Given the description of an element on the screen output the (x, y) to click on. 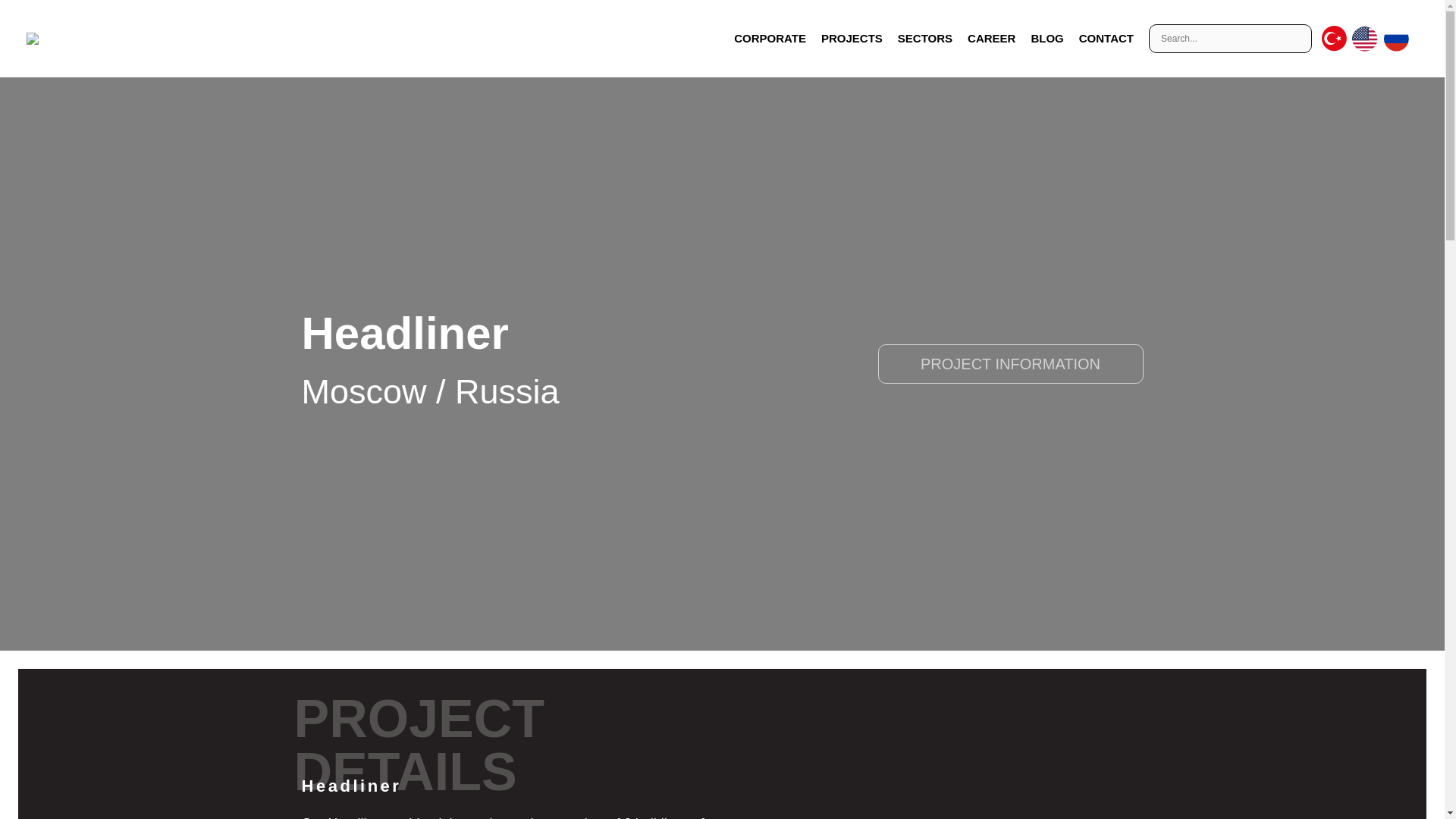
BLOG (1046, 38)
CORPORATE (769, 38)
CONTACT (1106, 38)
SECTORS (924, 38)
PROJECT INFORMATION (1009, 363)
CAREER (991, 38)
ANT YAPI (25, 38)
PROJECTS (851, 38)
